Given the description of an element on the screen output the (x, y) to click on. 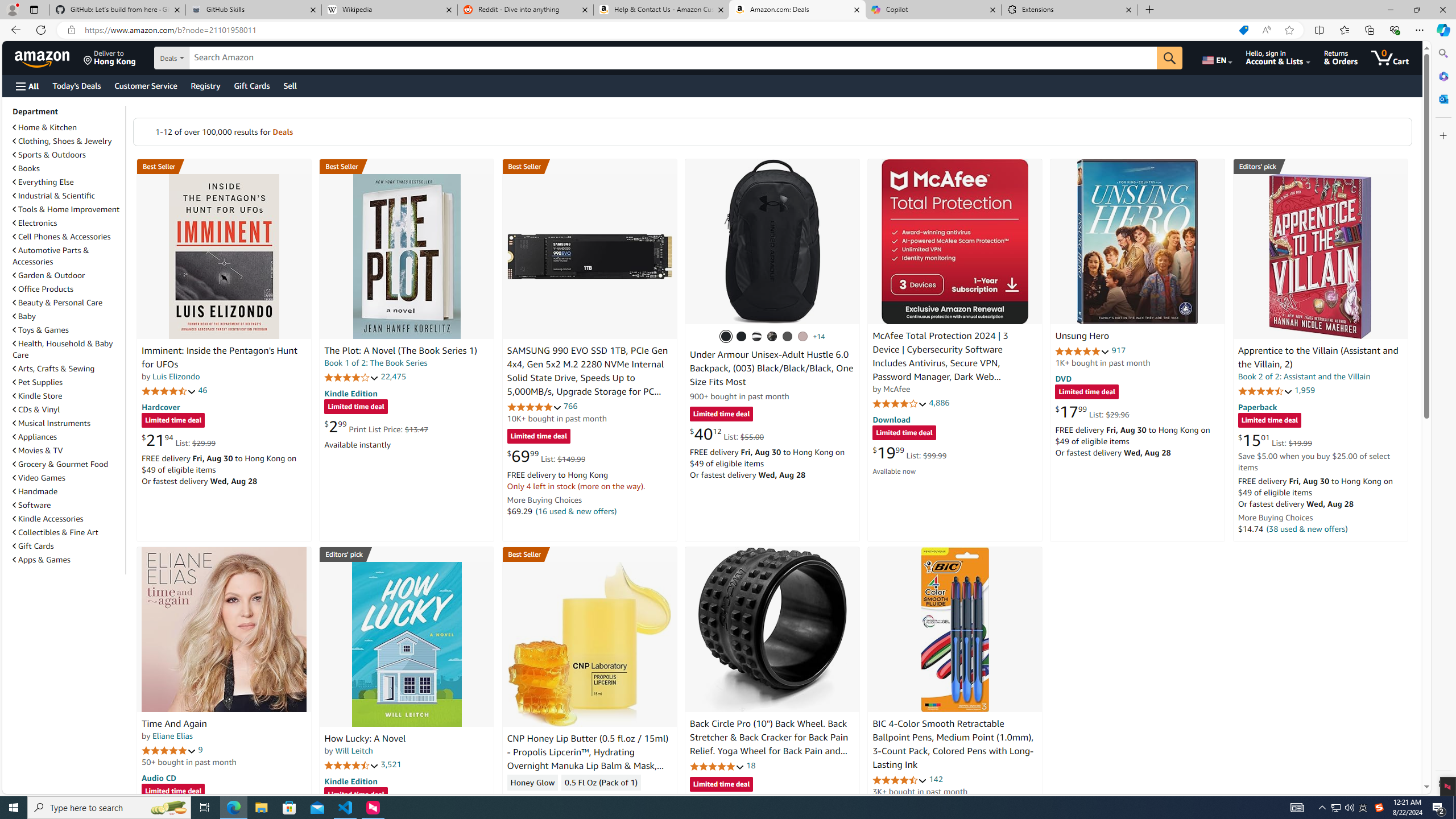
Health, Household & Baby Care (63, 349)
Office Products (43, 289)
GitHub Skills (253, 9)
Toys & Games (40, 329)
Baby (24, 316)
Cell Phones & Accessories (61, 236)
Search Amazon (673, 57)
Editors' pick Best Mystery, Thriller & Suspense (406, 553)
Automotive Parts & Accessories (50, 255)
Download (891, 419)
Kindle Store (37, 395)
